Given the description of an element on the screen output the (x, y) to click on. 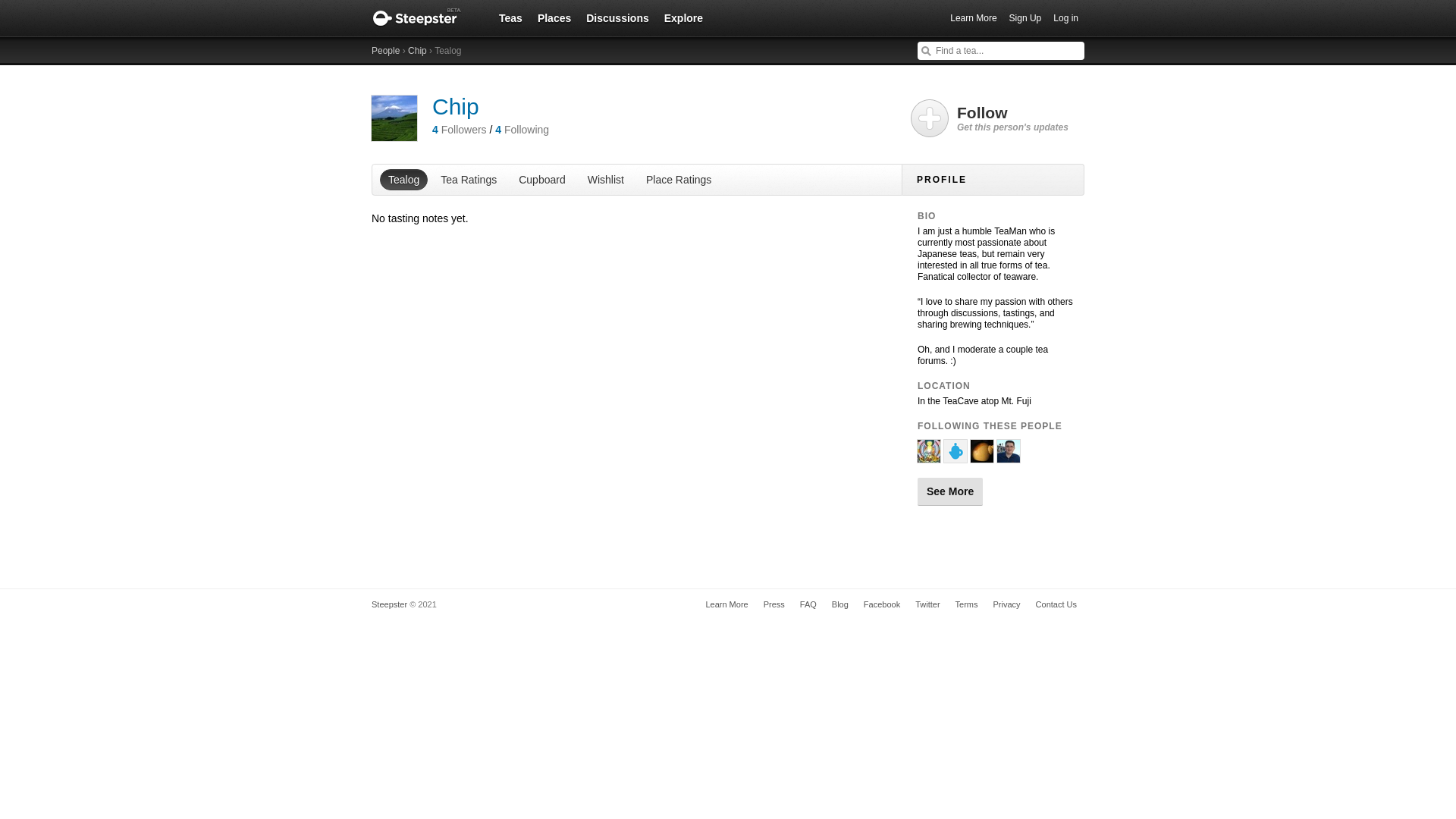
Link to Terms of Use (966, 604)
Chip (416, 50)
Link to the Official Steepster Blog (840, 604)
Steepster (389, 604)
Press (773, 604)
Steepster (424, 18)
Discussions (616, 17)
Place Ratings (678, 179)
View Bowman's Tealog (981, 456)
Contact Us (1055, 604)
View Adam's Tealog (1008, 456)
Log in (1065, 18)
Steepster on Facebook (881, 604)
Learn More (726, 604)
People (384, 50)
